Given the description of an element on the screen output the (x, y) to click on. 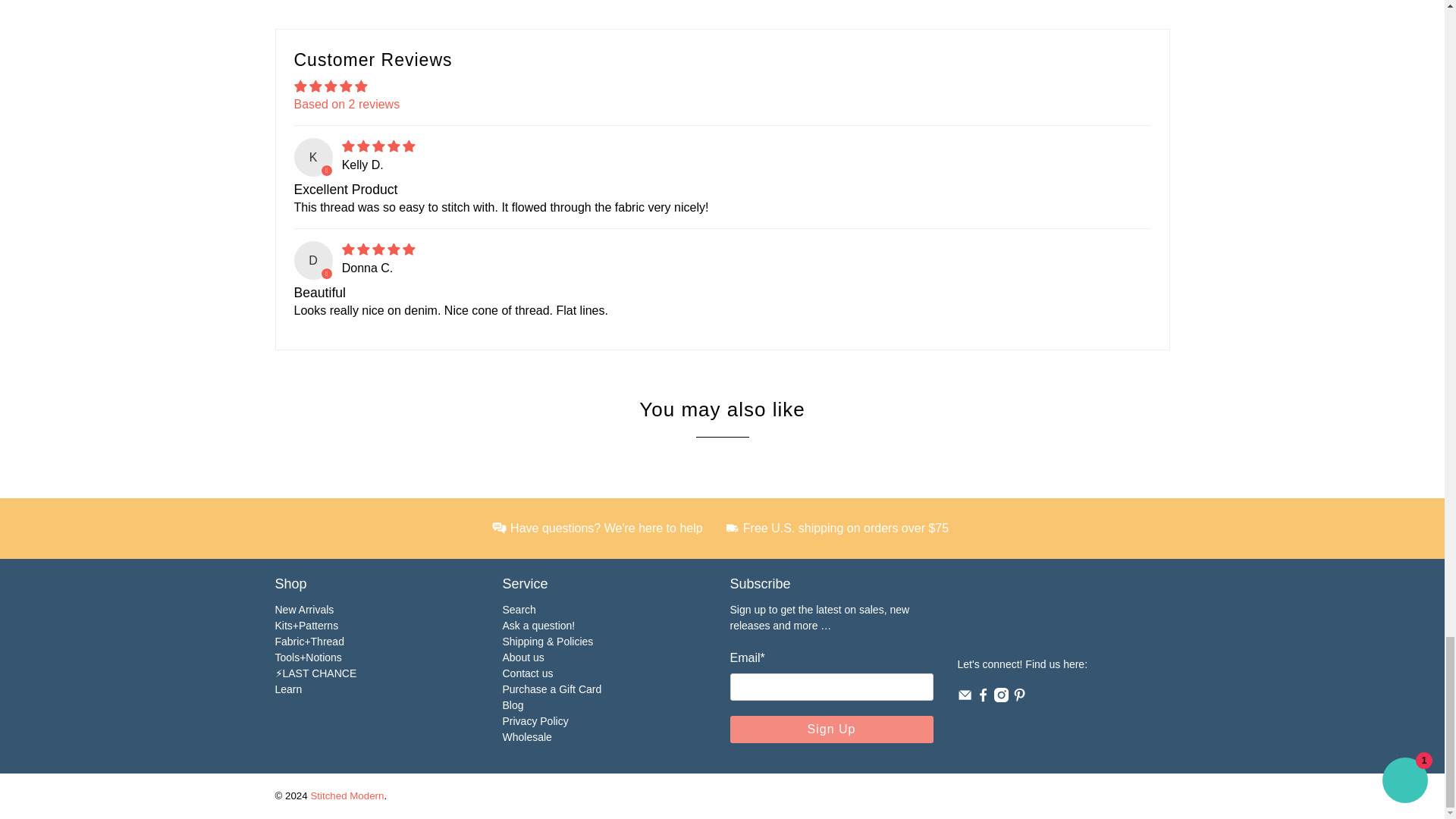
Email Stitched Modern (963, 698)
Stitched Modern on Instagram (1001, 698)
Stitched Modern (1041, 615)
Stitched Modern on Facebook (982, 698)
